Given the description of an element on the screen output the (x, y) to click on. 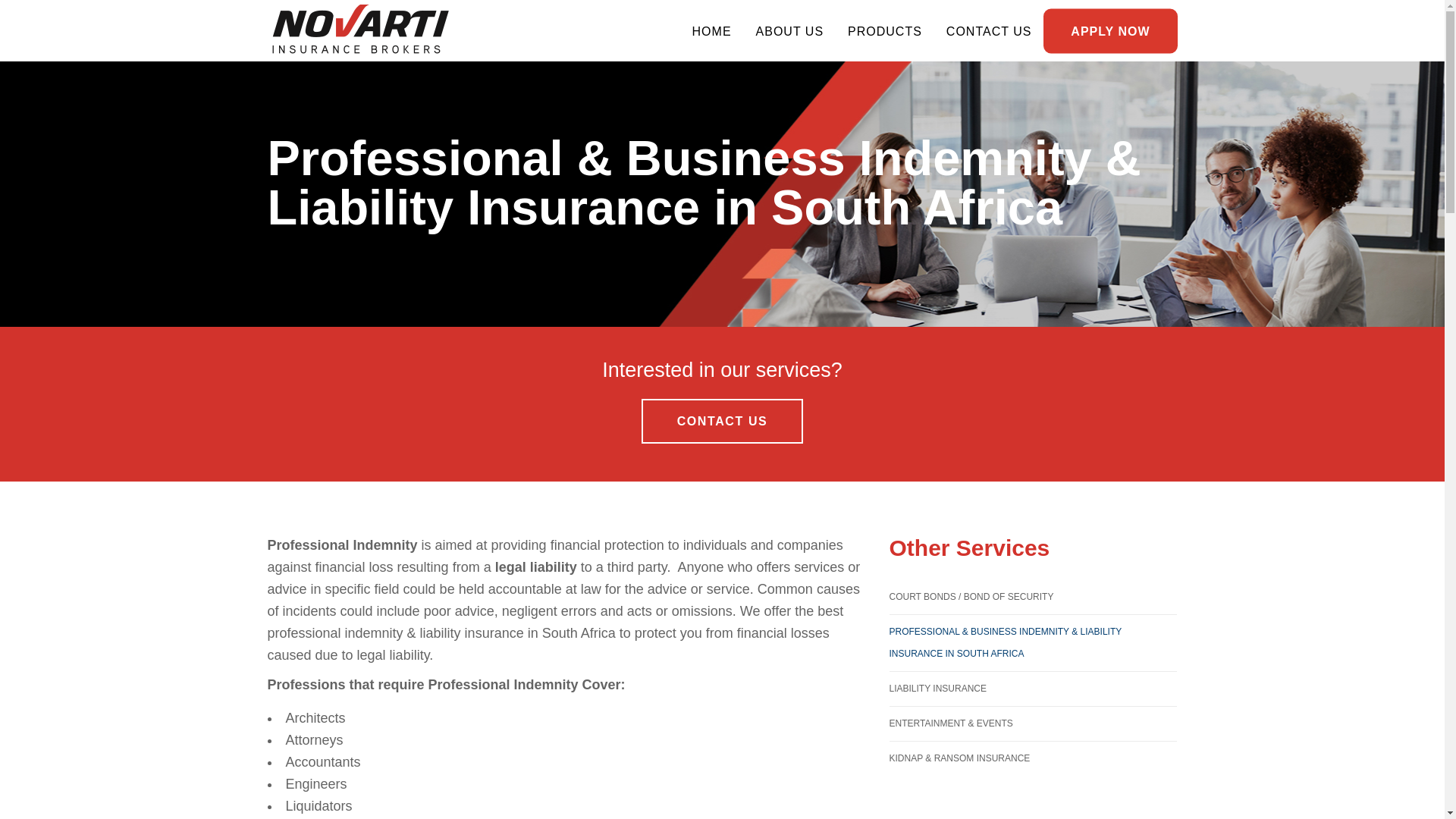
LIABILITY INSURANCE (1032, 688)
HOME (711, 30)
ABOUT US (789, 30)
APPLY NOW (1109, 30)
CONTACT US (722, 420)
CONTACT US (988, 30)
PRODUCTS (884, 30)
